Given the description of an element on the screen output the (x, y) to click on. 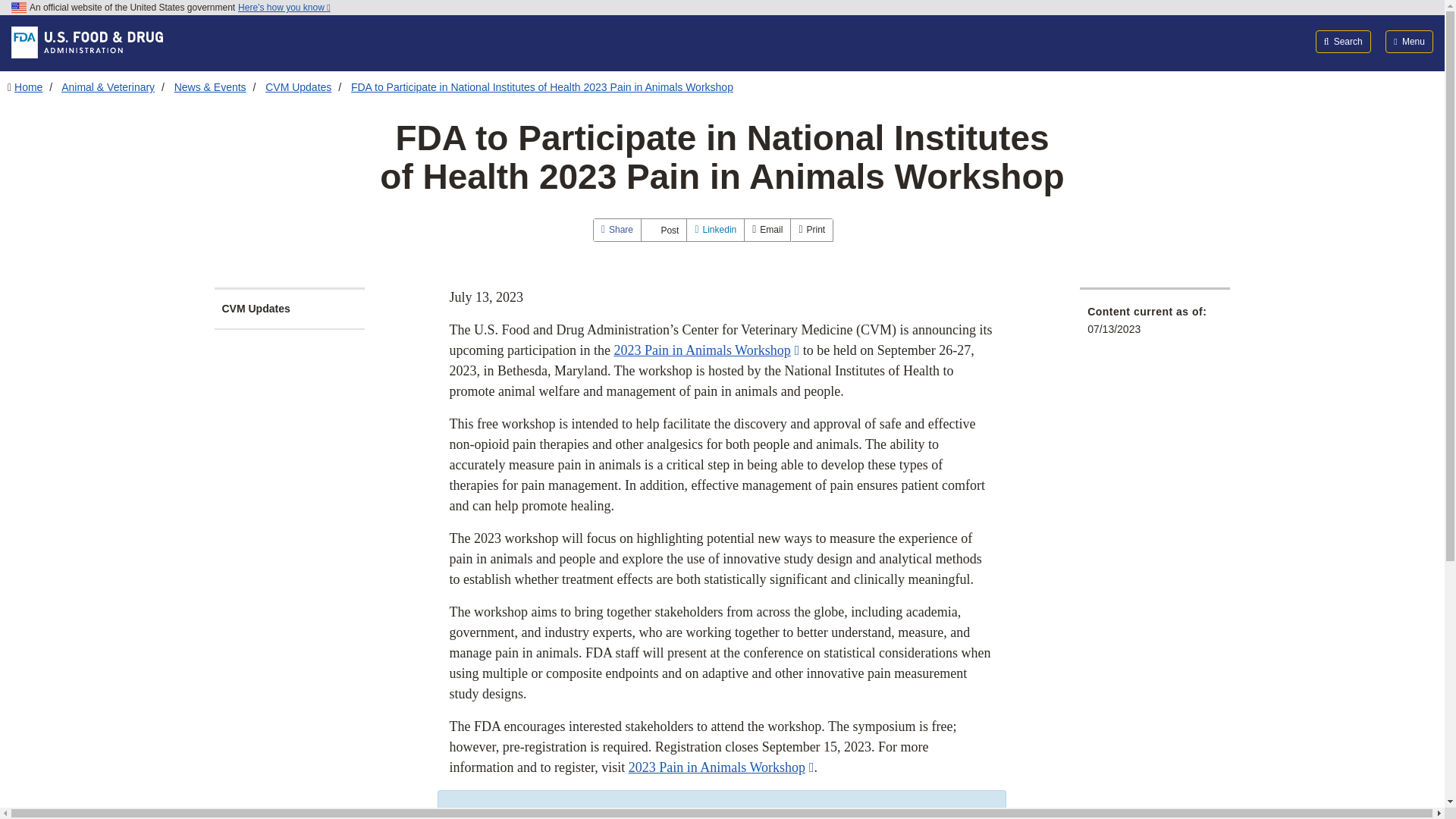
  Search (1343, 41)
Print this page (811, 229)
  Menu (1409, 41)
